Given the description of an element on the screen output the (x, y) to click on. 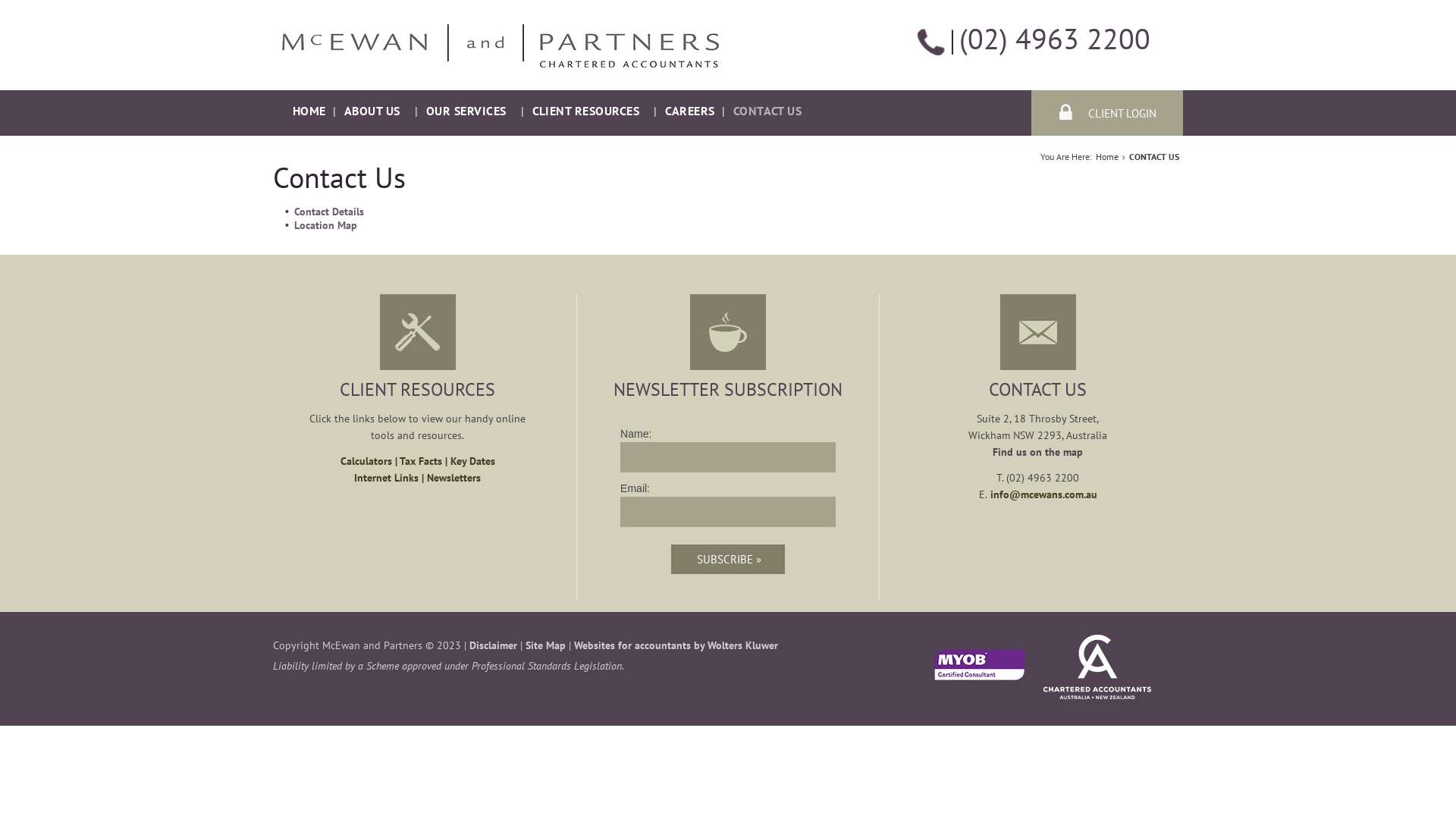
CONTACT US Element type: text (1154, 156)
info@mcewans.com.au Element type: text (1043, 494)
HOME Element type: text (308, 110)
Disclaimer Element type: text (493, 645)
Newsletters Element type: text (453, 477)
OUR SERVICES Element type: text (468, 110)
CLIENT RESOURCES Element type: text (589, 110)
CONTACT US Element type: text (770, 110)
Websites for accountants by Wolters Kluwer Element type: text (676, 645)
Home Element type: text (1106, 156)
Key Dates Element type: text (472, 460)
Internet Links Element type: text (386, 477)
Find us on the map Element type: text (1037, 451)
Tax Facts Element type: text (420, 460)
Location Map Element type: text (325, 225)
CAREERS Element type: text (688, 110)
Calculators Element type: text (366, 460)
Site Map Element type: text (545, 645)
CLIENT LOGIN Element type: text (1106, 112)
Contact Details Element type: text (329, 211)
ABOUT US Element type: text (374, 110)
